Given the description of an element on the screen output the (x, y) to click on. 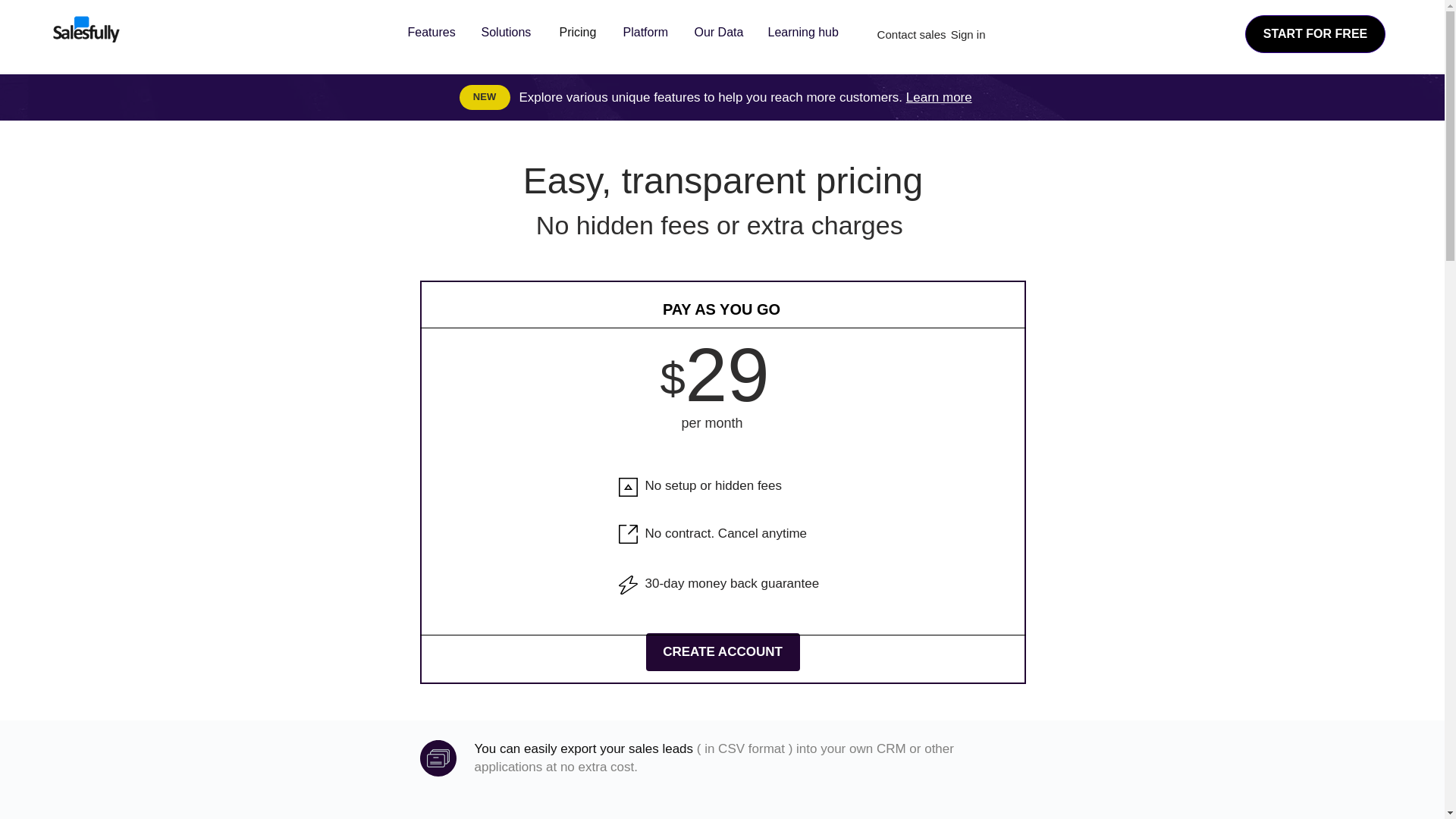
Solutions (509, 32)
START FOR FREE (1315, 34)
Learn more (938, 97)
Platform (646, 32)
Contact sales (911, 33)
Learning hub (807, 32)
Features (432, 32)
CREATE ACCOUNT (722, 651)
Pricing (579, 32)
Sign in (967, 33)
